Given the description of an element on the screen output the (x, y) to click on. 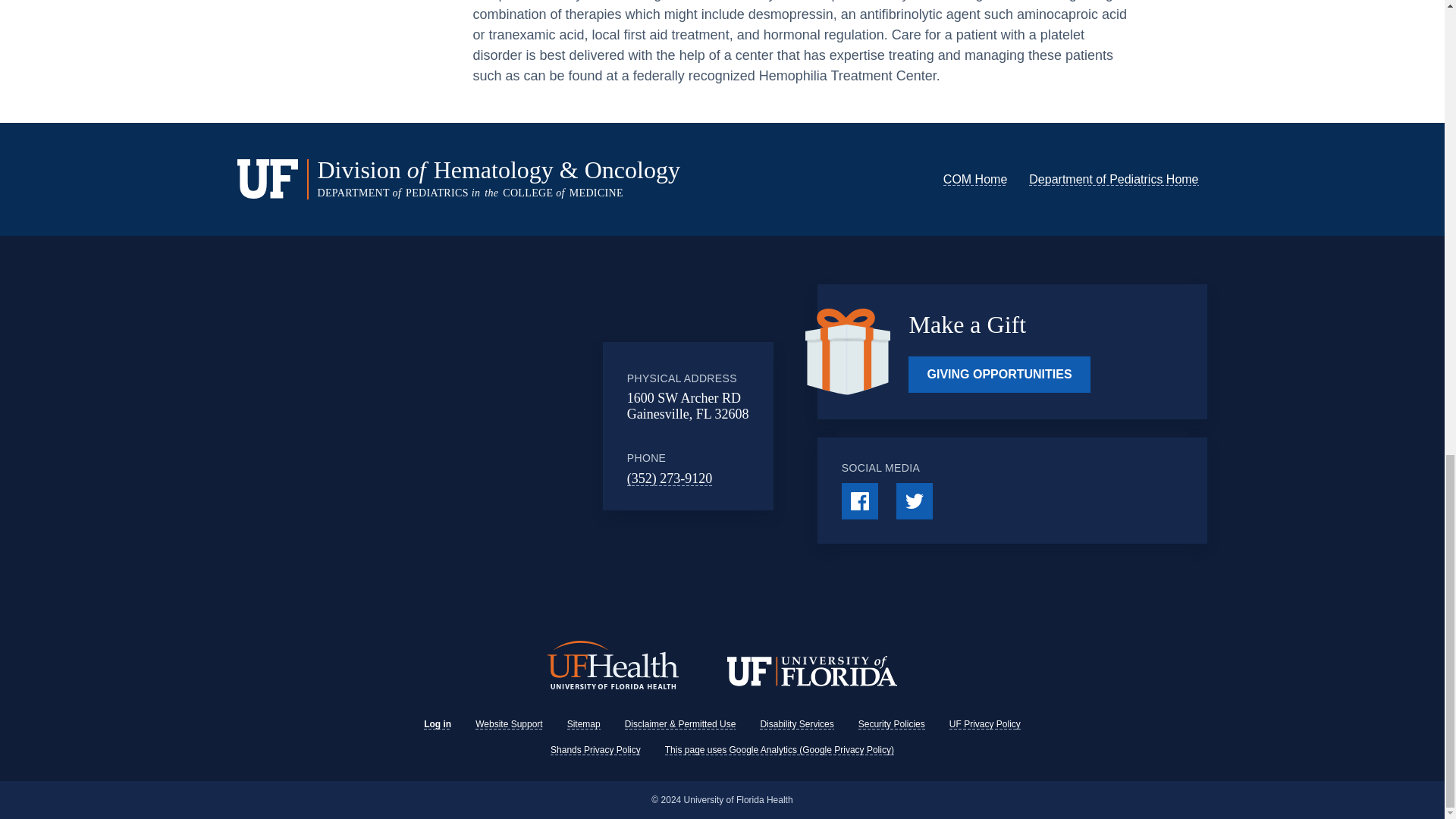
Disability Services (796, 723)
Google Maps Embed (478, 425)
UF Privacy Policy (984, 723)
Security Policies (891, 723)
Sitemap (583, 723)
COM Home (975, 178)
Log in (437, 723)
Shands Privacy Policy (595, 748)
Website Support (509, 723)
Department of Pediatrics Home (1113, 178)
